Given the description of an element on the screen output the (x, y) to click on. 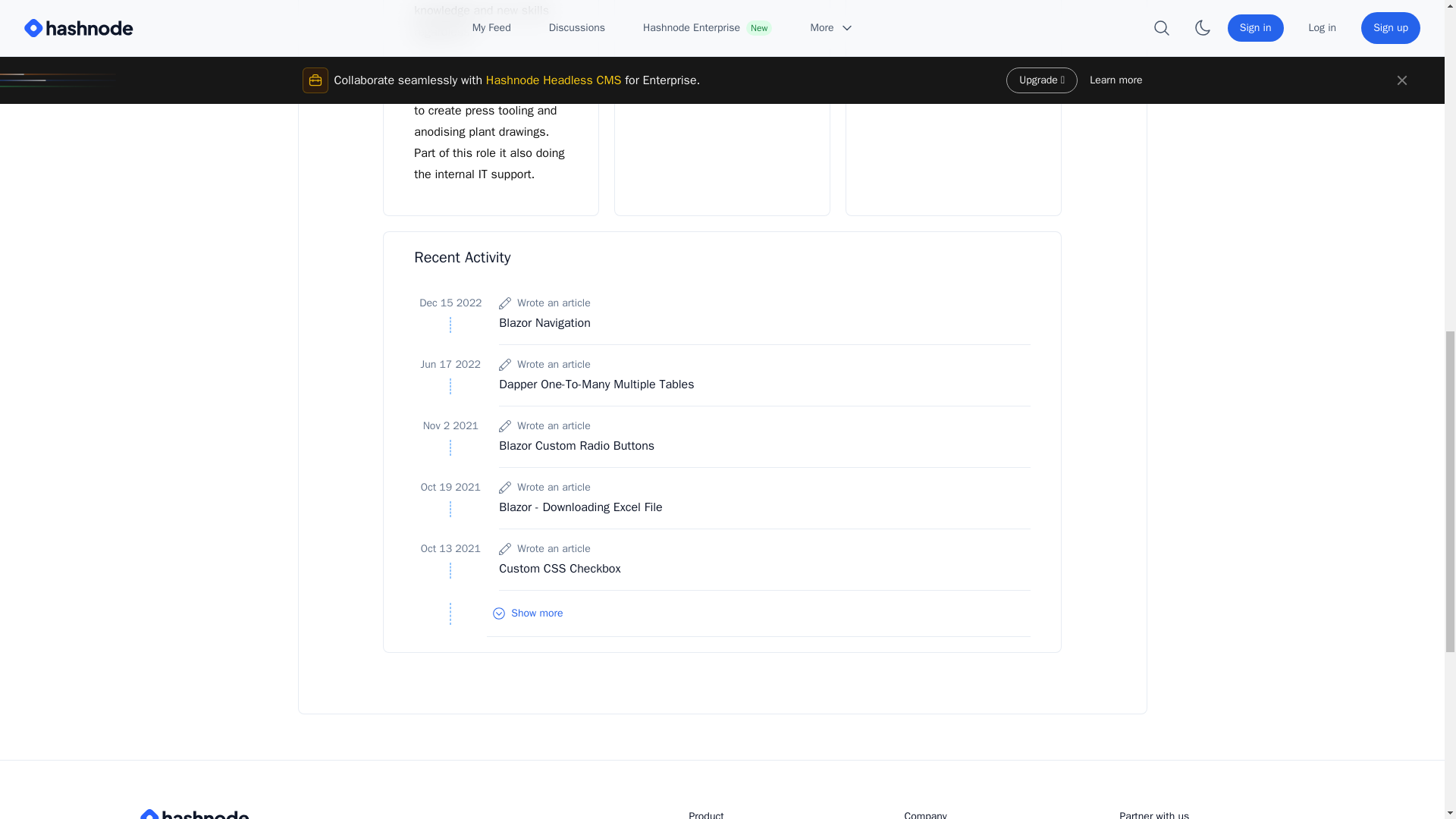
Hashnode (260, 814)
Custom CSS Checkbox (559, 568)
Blazor - Downloading Excel File (580, 507)
Dapper One-To-Many Multiple Tables (596, 384)
Blazor Custom Radio Buttons (576, 445)
Blazor Navigation (544, 322)
Show more (757, 613)
